Given the description of an element on the screen output the (x, y) to click on. 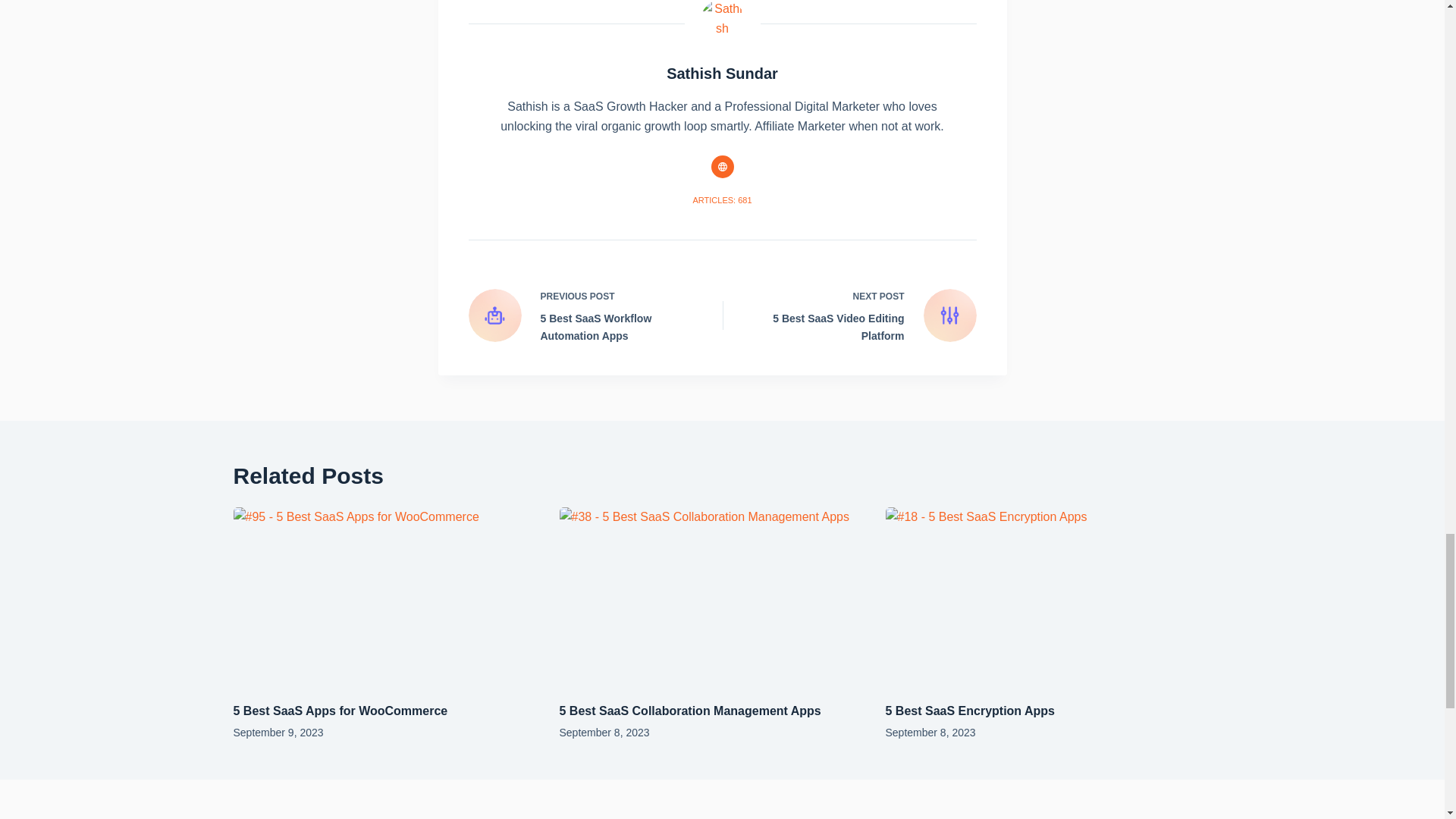
ARTICLES: 681 (722, 200)
